Given the description of an element on the screen output the (x, y) to click on. 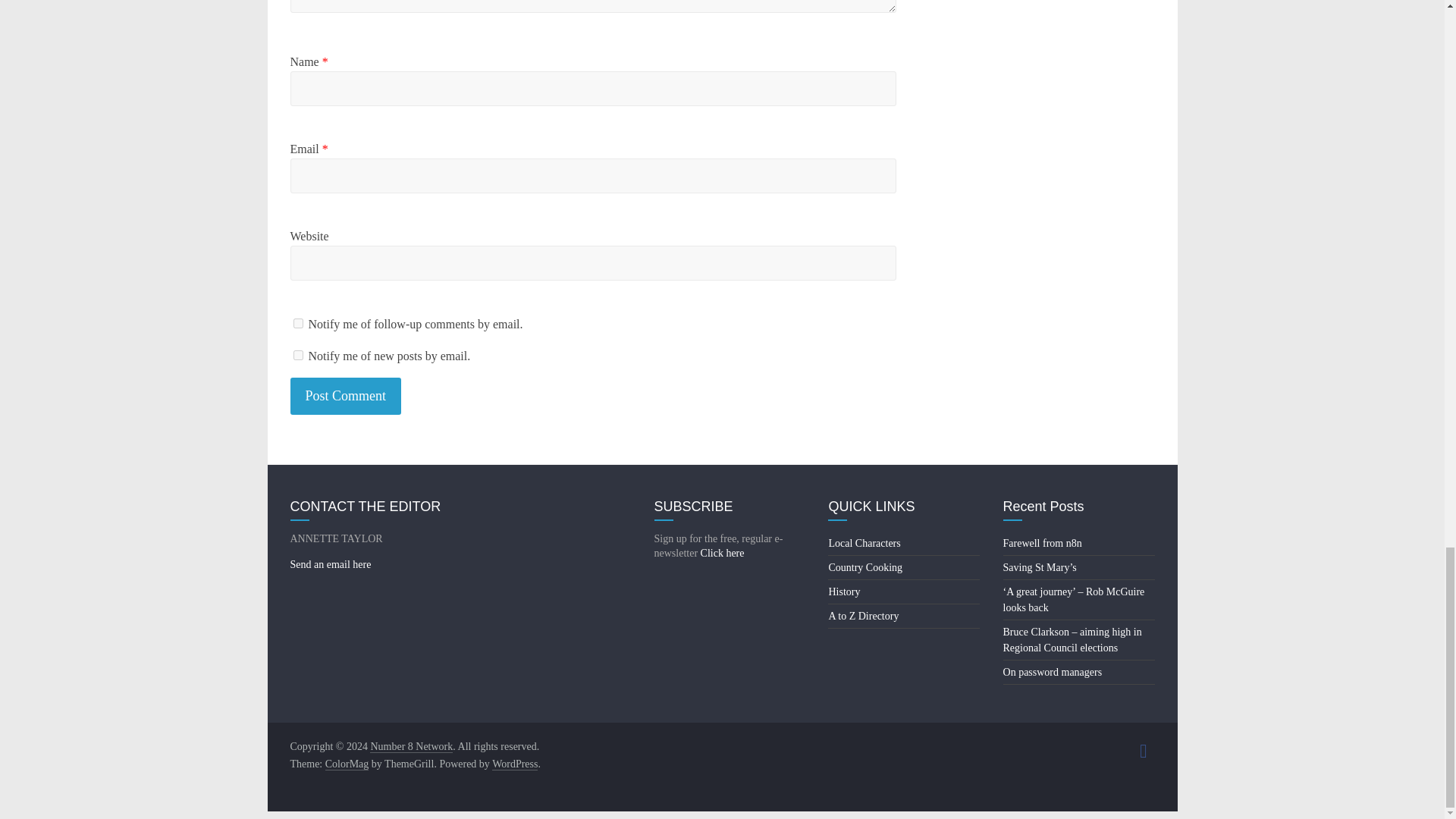
Post Comment (345, 395)
subscribe (297, 355)
subscribe (297, 323)
